Given the description of an element on the screen output the (x, y) to click on. 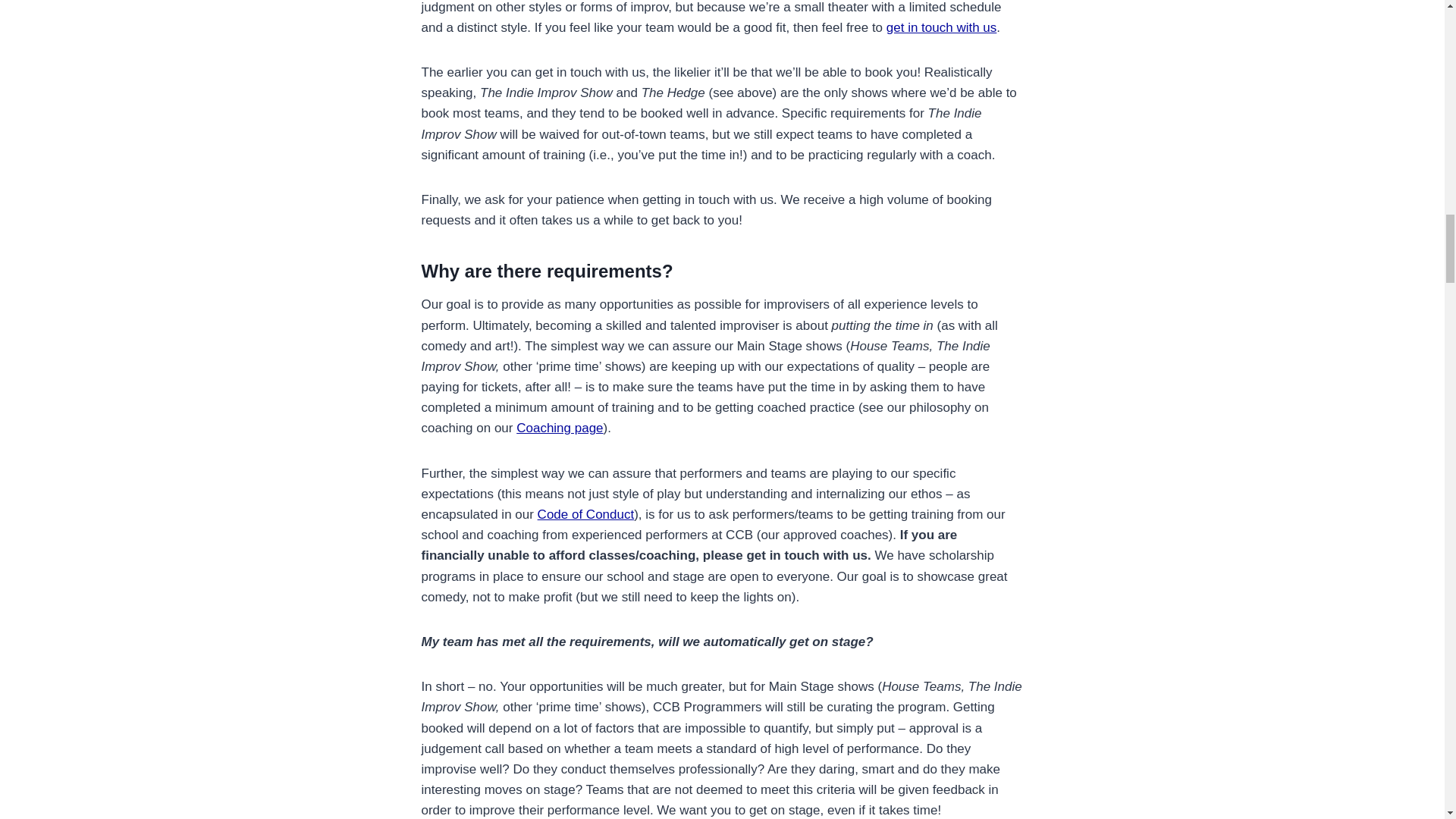
get in touch with us (941, 27)
Code of Conduct (585, 513)
Coaching page (559, 427)
